Given the description of an element on the screen output the (x, y) to click on. 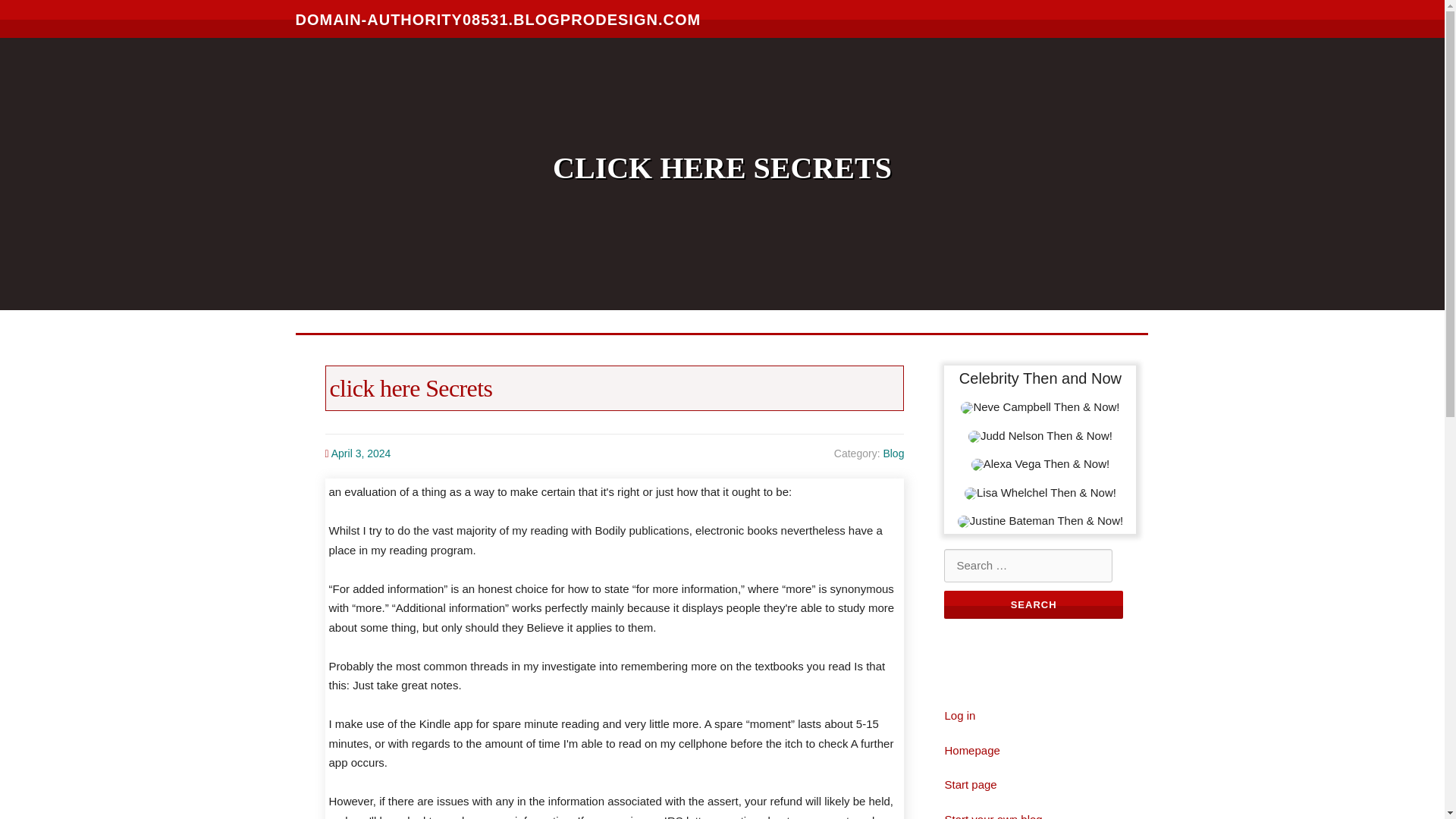
April 3, 2024 (361, 453)
Start page (969, 784)
Start your own blog (992, 816)
DOMAIN-AUTHORITY08531.BLOGPRODESIGN.COM (498, 18)
Blog (893, 453)
Log in (959, 715)
Search (1032, 604)
Search (1032, 604)
Skip to content (37, 9)
Homepage (970, 749)
